Given the description of an element on the screen output the (x, y) to click on. 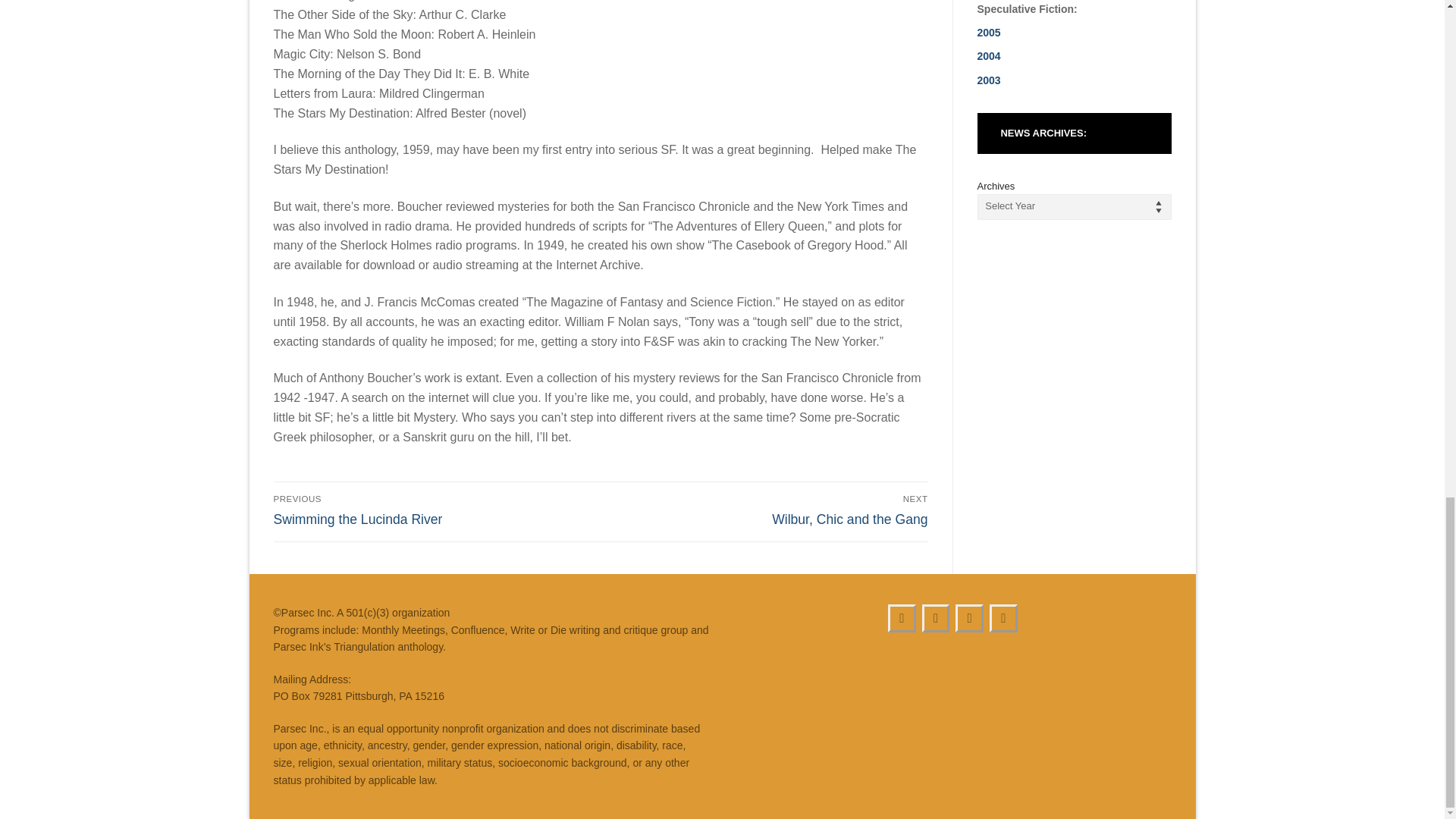
Instagram (433, 510)
Facebook (968, 617)
Youtube (901, 617)
BlueSky (936, 617)
